Given the description of an element on the screen output the (x, y) to click on. 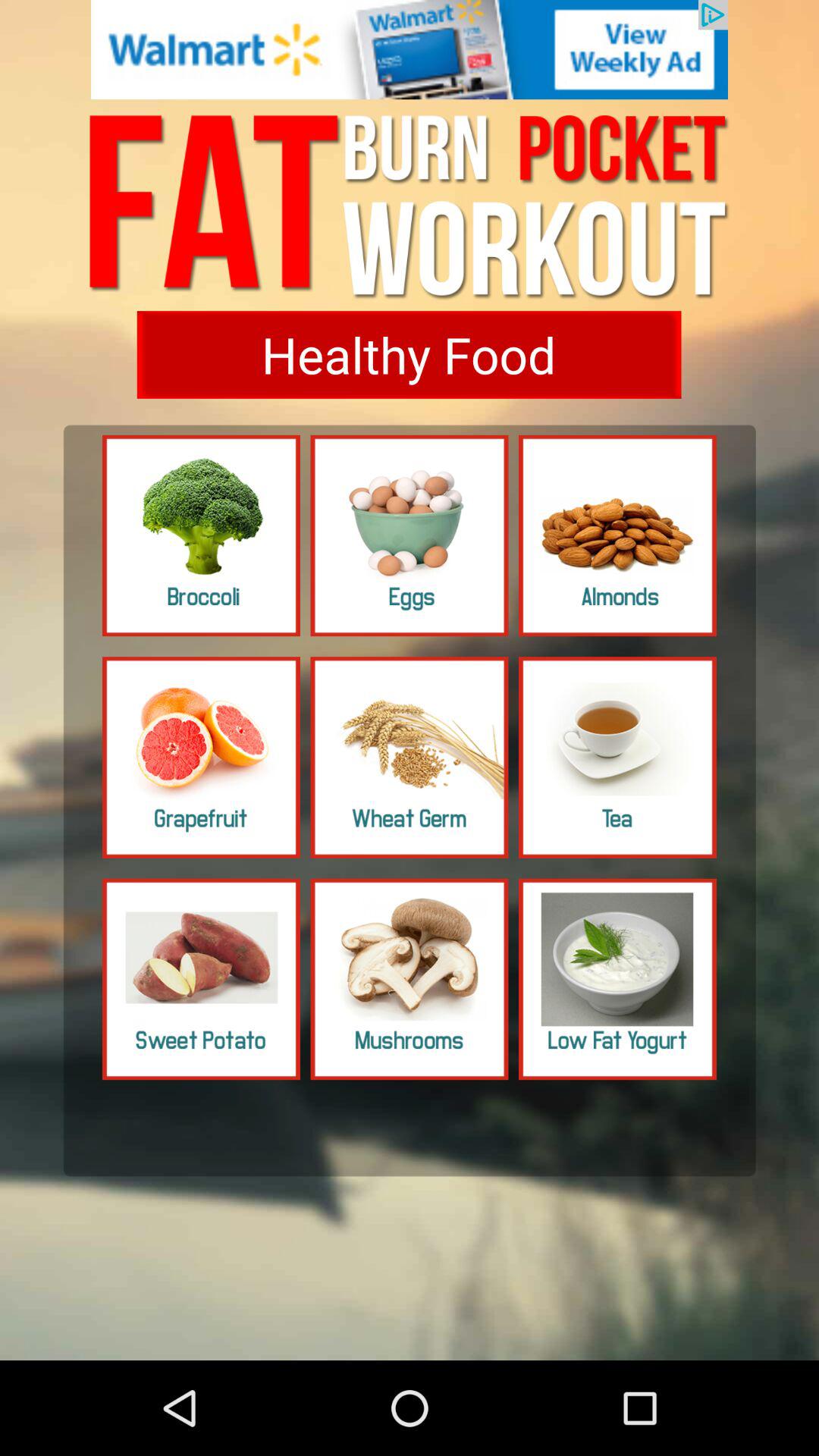
mushrooms image (409, 979)
